Given the description of an element on the screen output the (x, y) to click on. 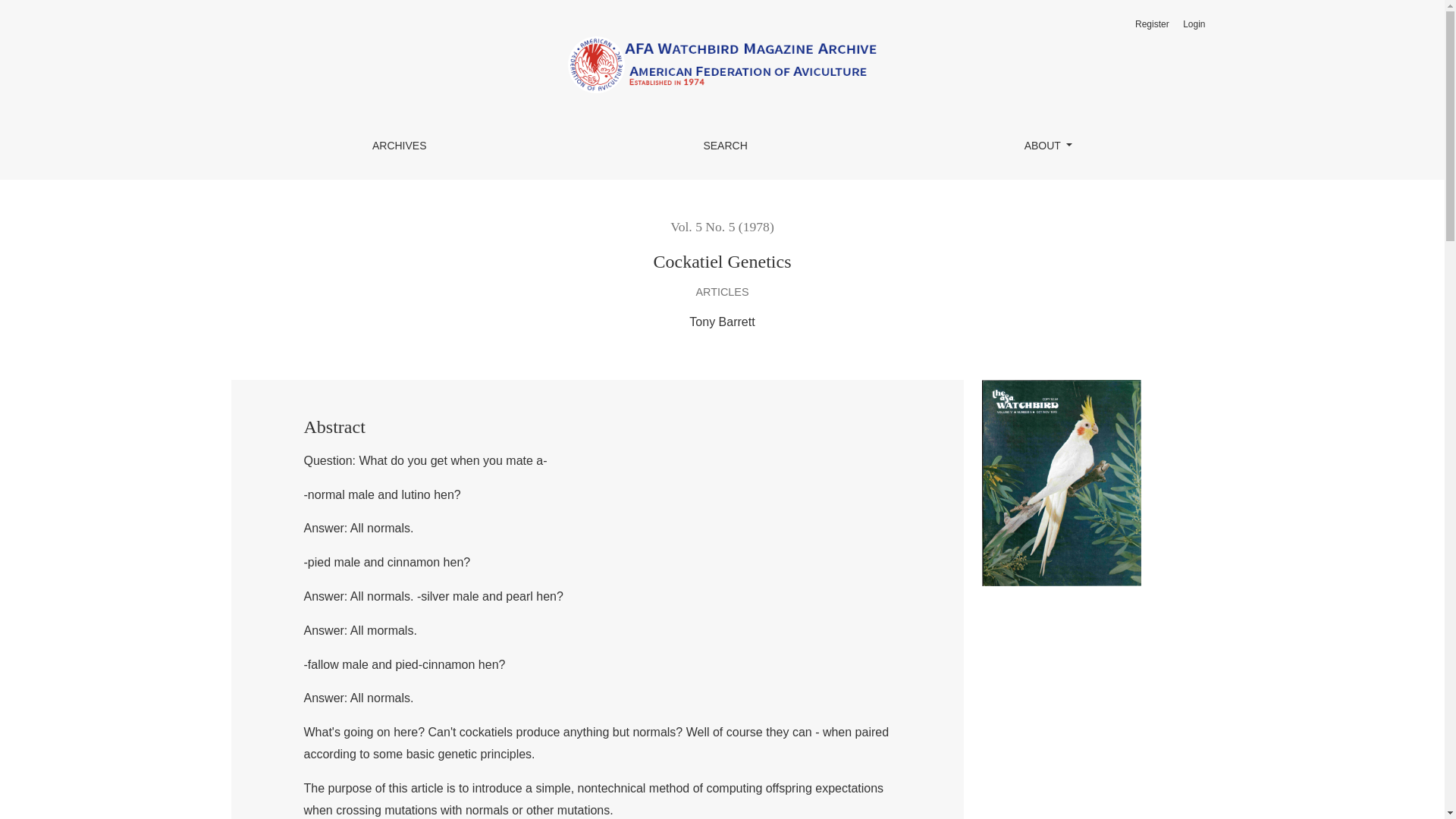
Register (1151, 24)
ARCHIVES (399, 145)
ABOUT (1047, 145)
SEARCH (725, 145)
Login (1193, 24)
